Given the description of an element on the screen output the (x, y) to click on. 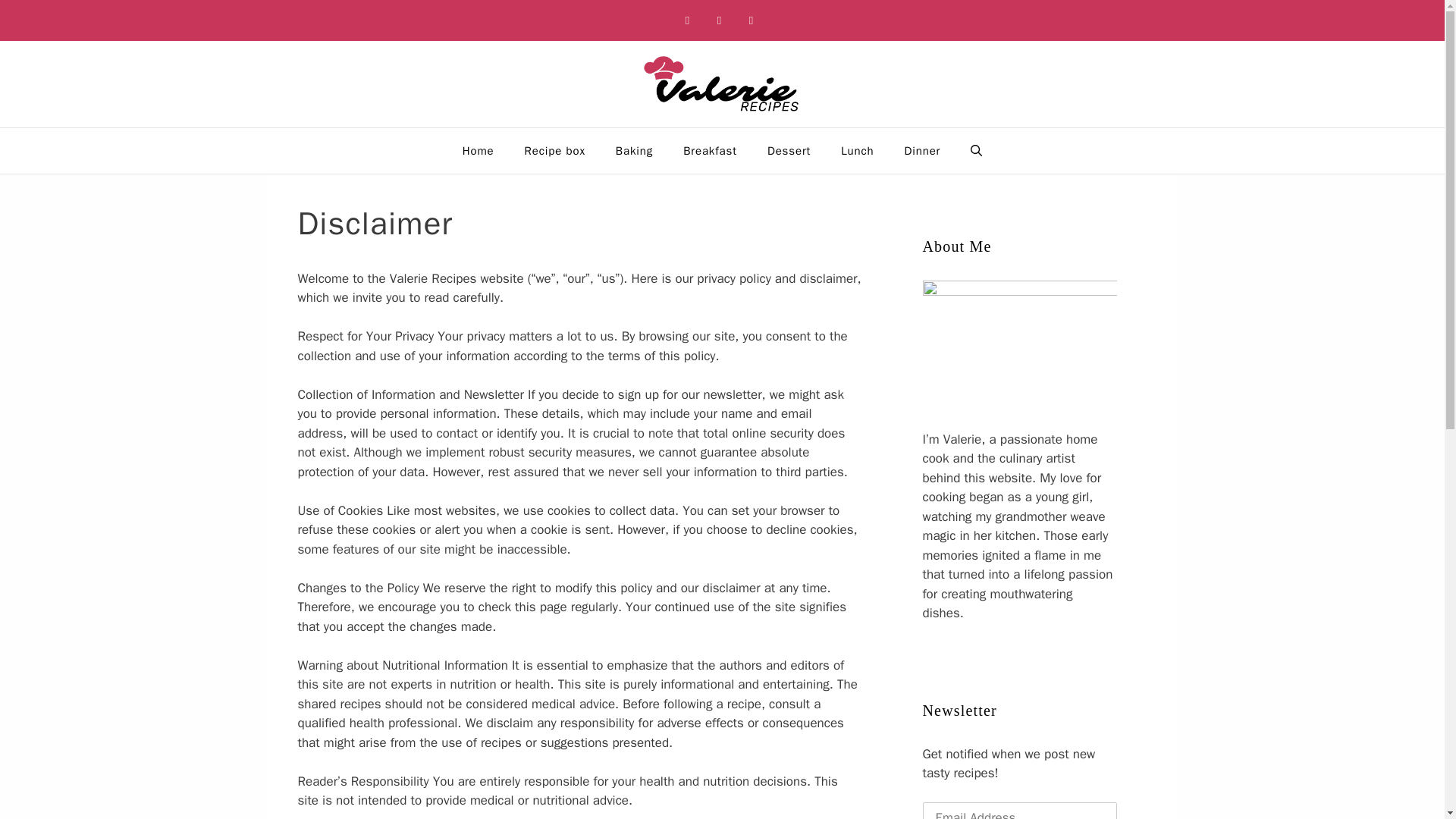
Pinterest (719, 20)
Home (477, 150)
Dessert (788, 150)
Breakfast (710, 150)
Lunch (856, 150)
Baking (633, 150)
Recipe box (554, 150)
YouTube (751, 20)
Dinner (922, 150)
Facebook (687, 20)
